Given the description of an element on the screen output the (x, y) to click on. 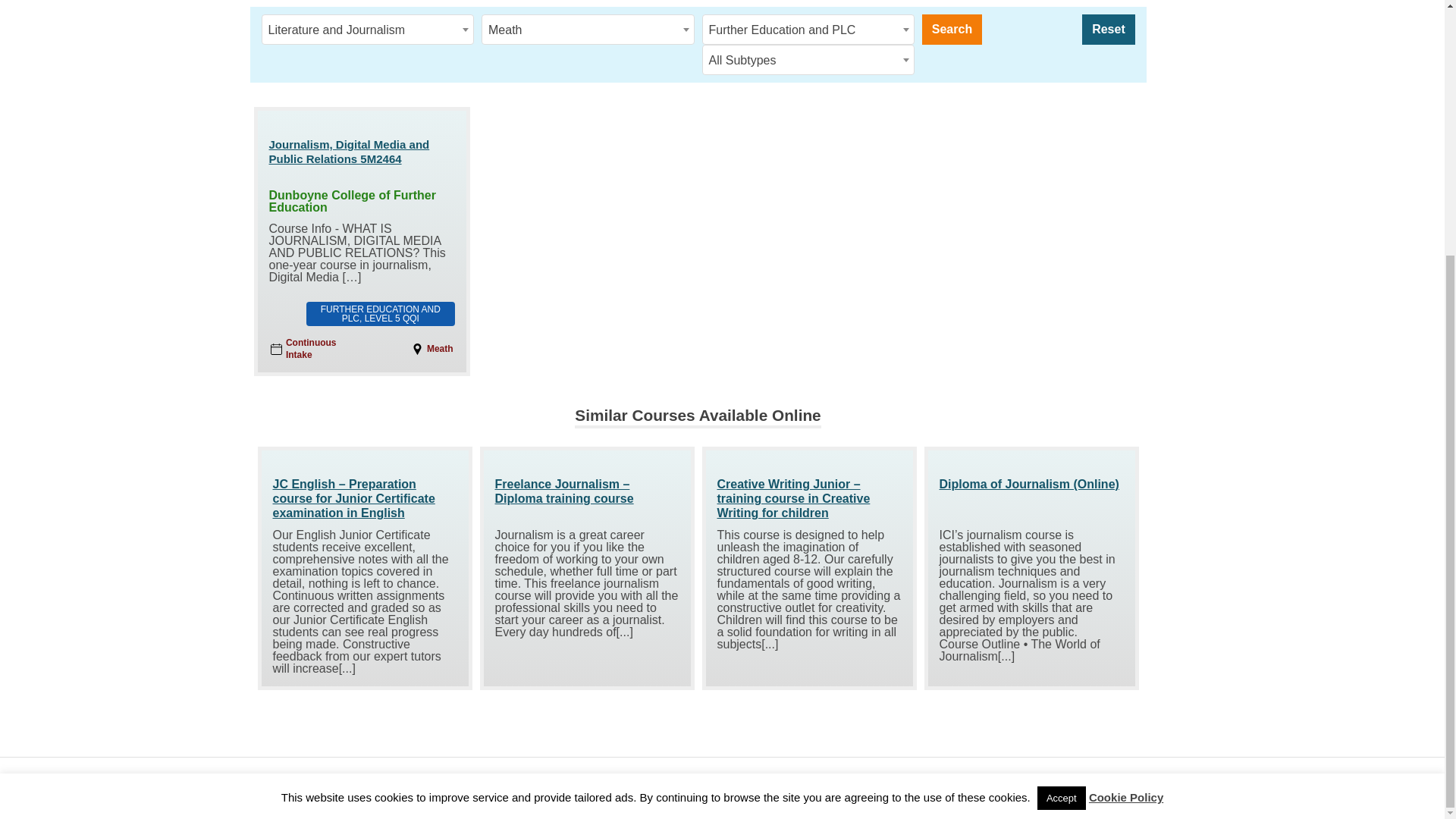
Journalism, Digital Media and Public Relations 5M2464 (360, 151)
Meath (587, 30)
Privacy Policy (363, 786)
Home (271, 786)
Blog (308, 786)
All Subtypes (807, 60)
Search (951, 29)
Literature and Journalism (368, 30)
Contact Us (537, 786)
Upcoming Courses (620, 786)
Further Education and PLC (807, 30)
Reset (1107, 29)
